Given the description of an element on the screen output the (x, y) to click on. 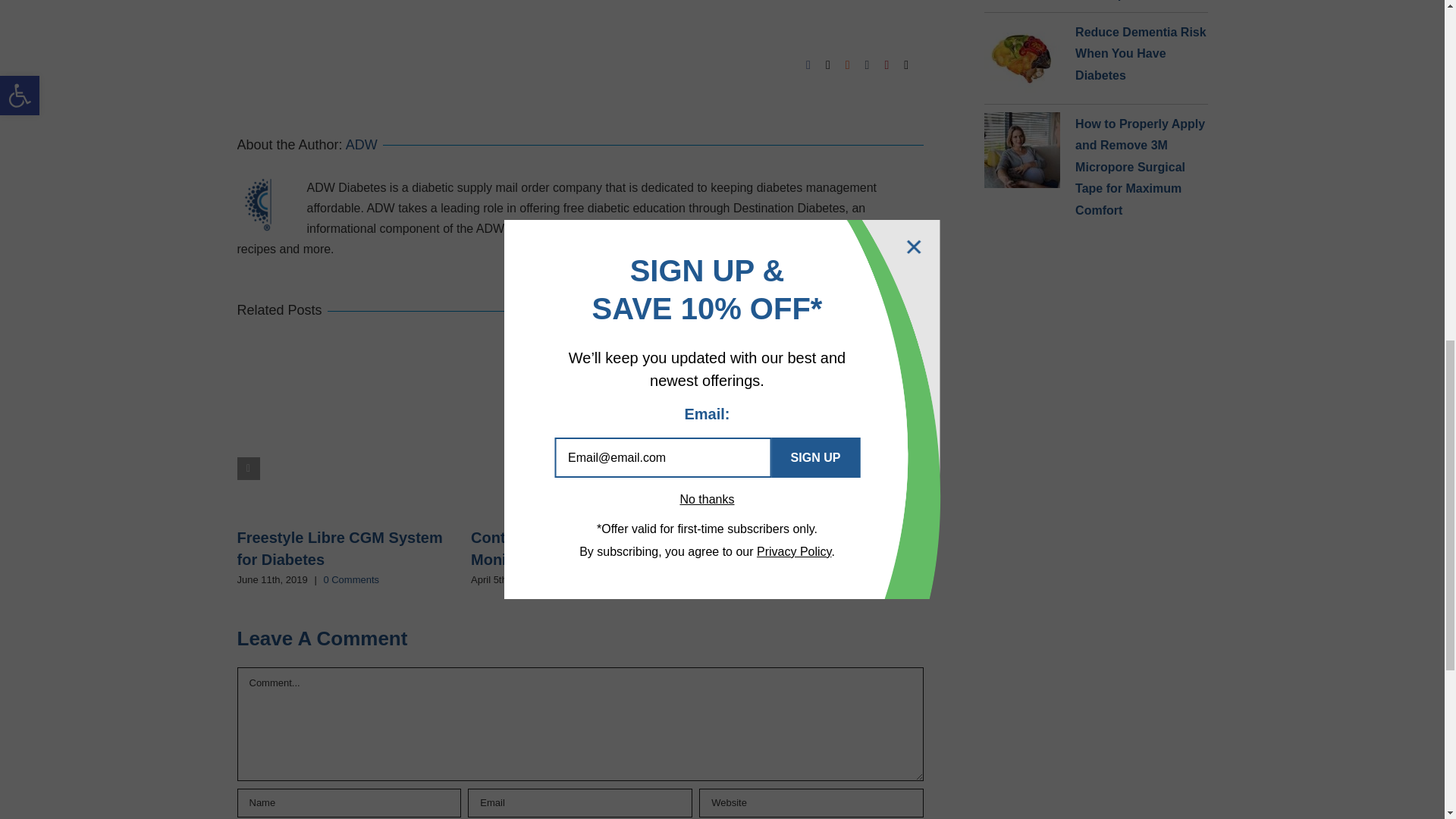
X (827, 64)
Tumblr (866, 64)
Email (906, 64)
Posts by ADW (361, 144)
Reddit (847, 64)
Pinterest (885, 64)
Continuous Glucose Monitoring for Diabetes (555, 548)
Facebook (808, 64)
Freestyle Libre CGM System for Diabetes (338, 548)
